Given the description of an element on the screen output the (x, y) to click on. 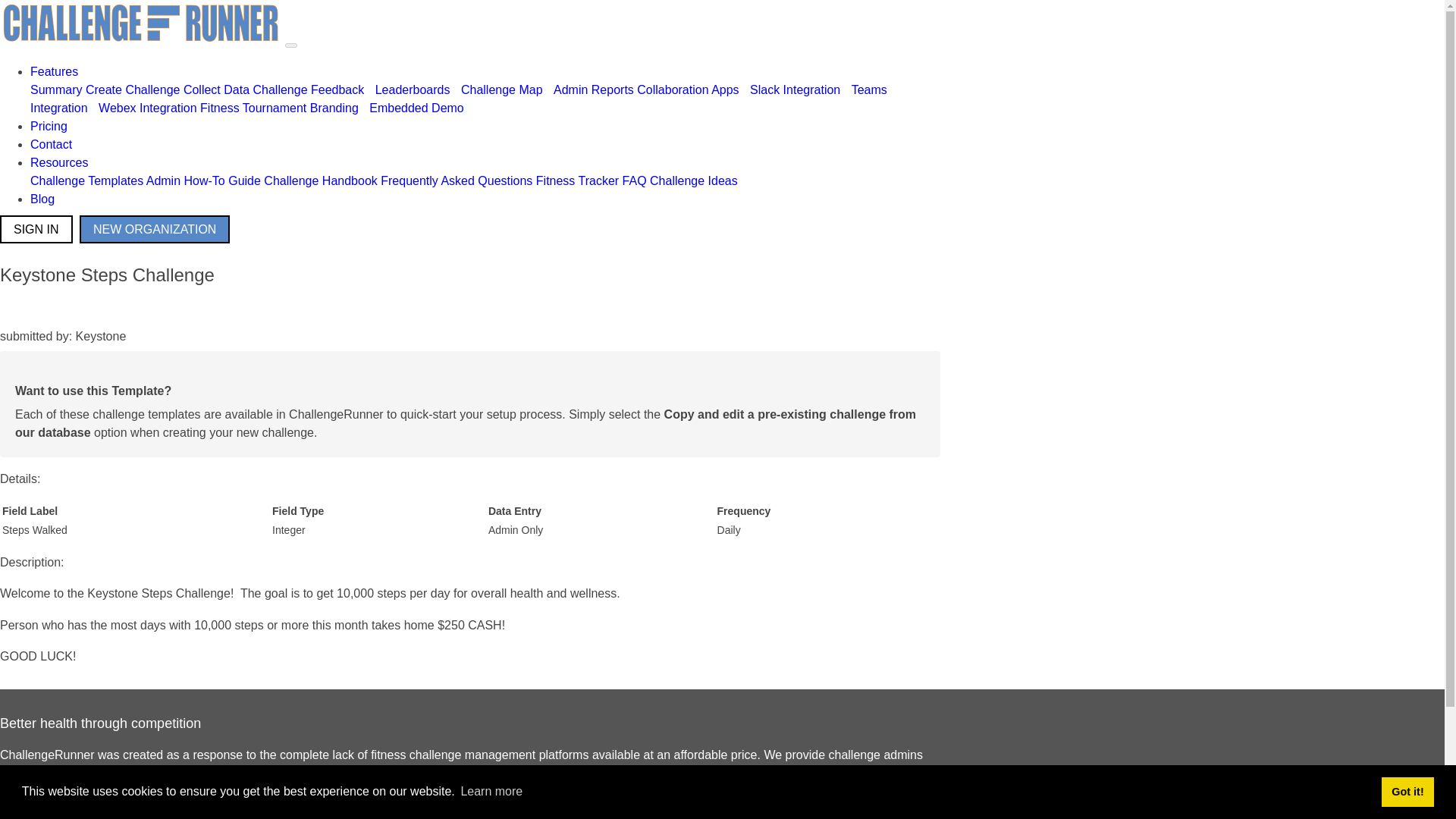
Learn more (491, 791)
NEW ORGANIZATION (155, 229)
Admin How-To Guide (203, 180)
Got it! (1407, 791)
Branding and Integration (334, 107)
Challenge Map (502, 89)
Summary (55, 89)
ChallengeRunner Support (456, 180)
Slack Integration (794, 89)
SIGN IN (36, 229)
Data Collection and Verification (215, 89)
Administrator Reporting (593, 89)
Admin Reports (593, 89)
Features (54, 71)
Data Collection and Verification (309, 89)
